Given the description of an element on the screen output the (x, y) to click on. 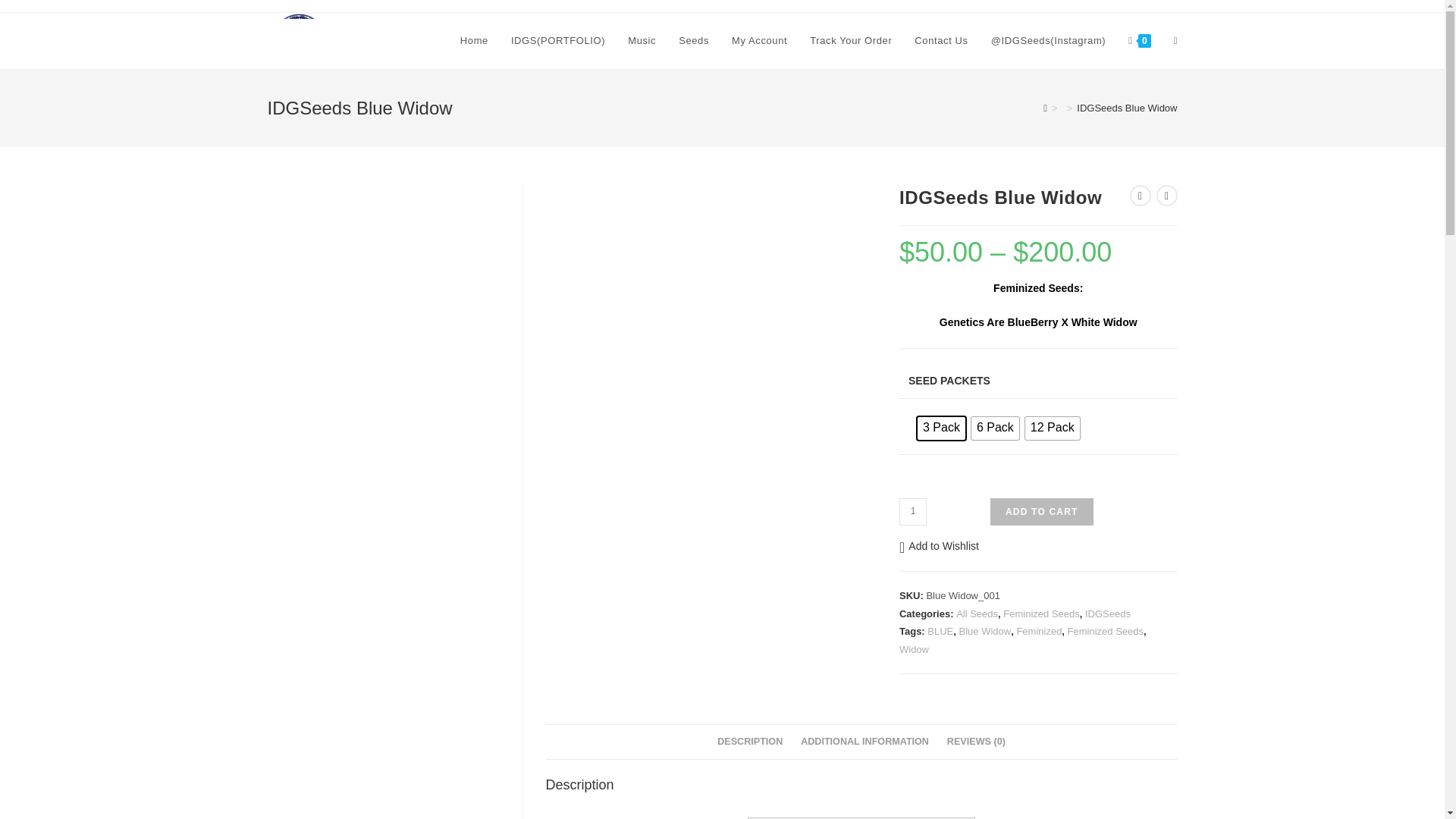
Contact Us (940, 40)
Seeds (693, 40)
IDGSeeds Blue Widow (1126, 107)
Music (640, 40)
Seeds (693, 40)
My Account (758, 40)
Track Your Order (849, 40)
Music (640, 40)
All Seeds (976, 613)
Add to Wishlist (938, 546)
